Given the description of an element on the screen output the (x, y) to click on. 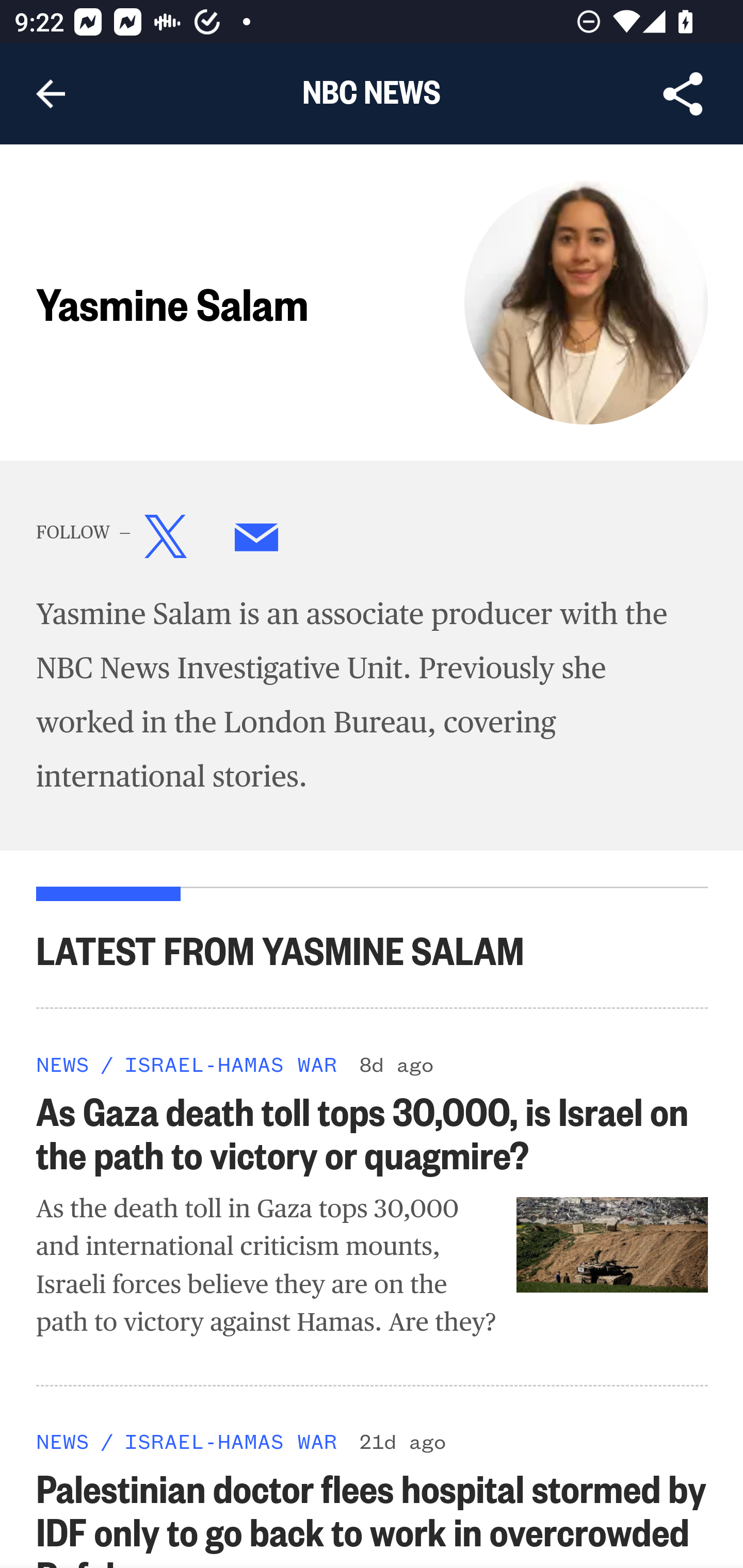
Navigate up (50, 93)
Share Article, button (683, 94)
 (165, 540)
 (256, 540)
NEWS NEWS NEWS (63, 1062)
ISRAEL-HAMAS WAR ISRAEL-HAMAS WAR ISRAEL-HAMAS WAR (229, 1062)
NEWS NEWS NEWS (63, 1441)
ISRAEL-HAMAS WAR ISRAEL-HAMAS WAR ISRAEL-HAMAS WAR (229, 1441)
